Given the description of an element on the screen output the (x, y) to click on. 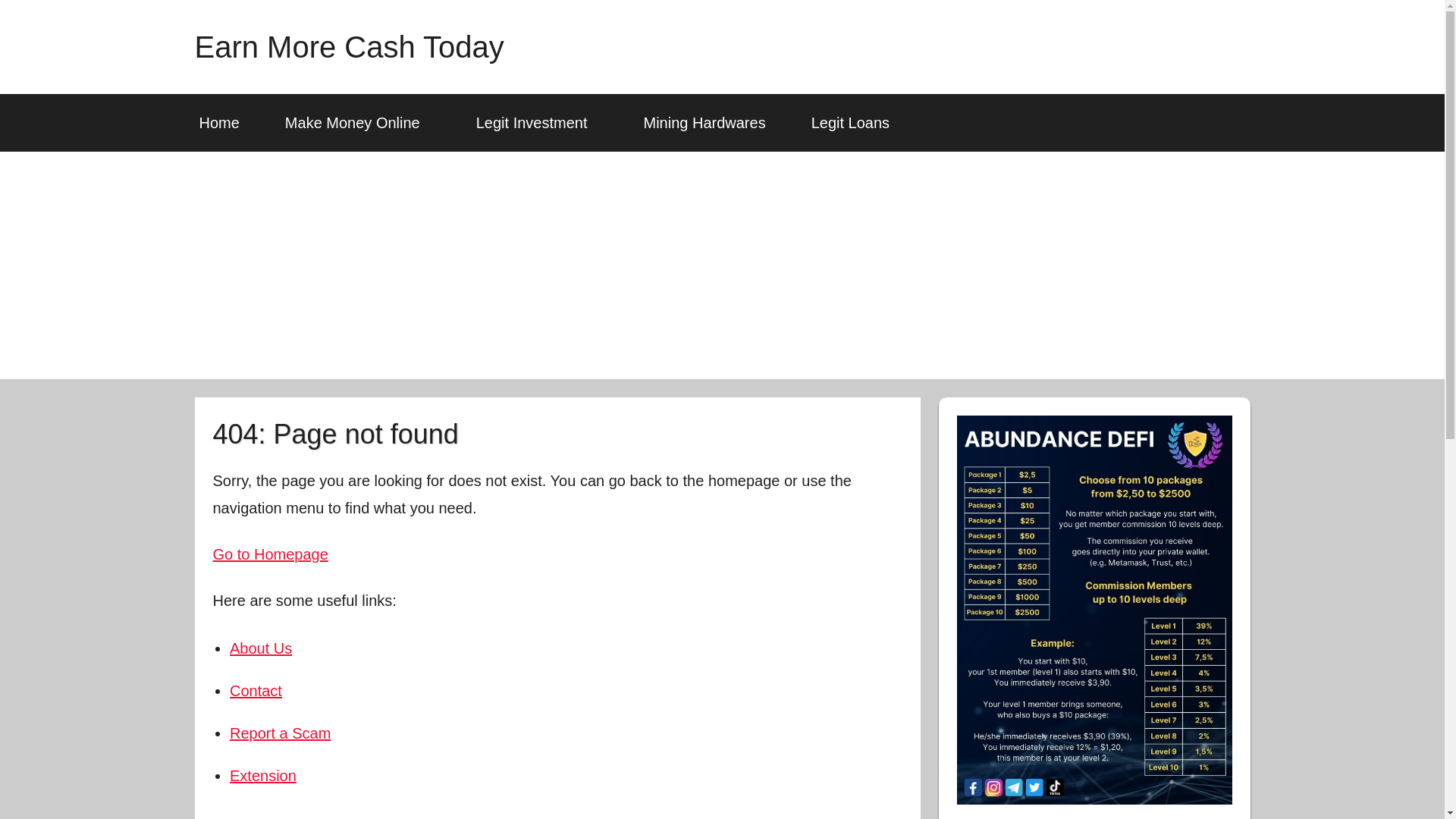
Extension (263, 775)
Contact (256, 690)
Report a Scam (280, 733)
Earn More Cash Today (348, 46)
Home (219, 122)
Legit Investment (536, 122)
Go to Homepage (269, 554)
Make Money Online (357, 122)
Legit Loans (856, 122)
About Us (261, 647)
Mining Hardwares (703, 122)
